Given the description of an element on the screen output the (x, y) to click on. 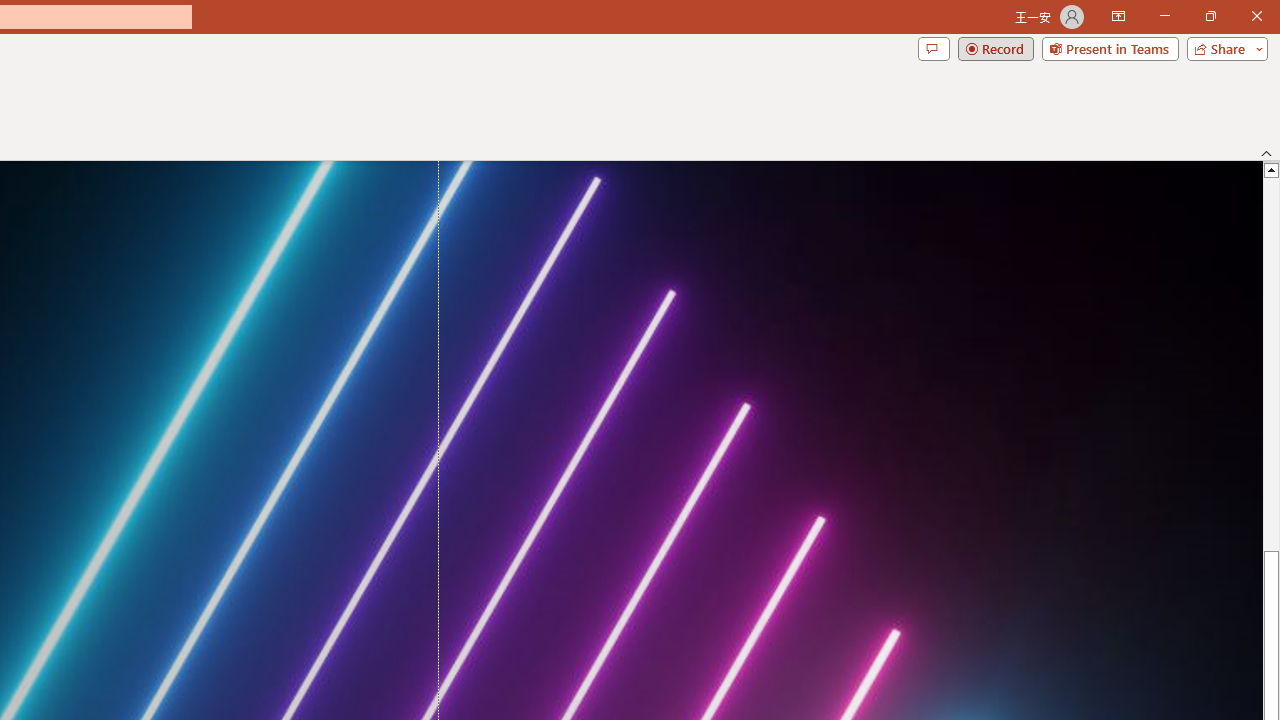
Record (995, 48)
Ribbon Display Options (1118, 16)
Close (1256, 16)
Present in Teams (1109, 48)
Share (1223, 48)
Comments (933, 48)
Minimize (1164, 16)
Collapse the Ribbon (1267, 152)
Restore Down (1210, 16)
